Given the description of an element on the screen output the (x, y) to click on. 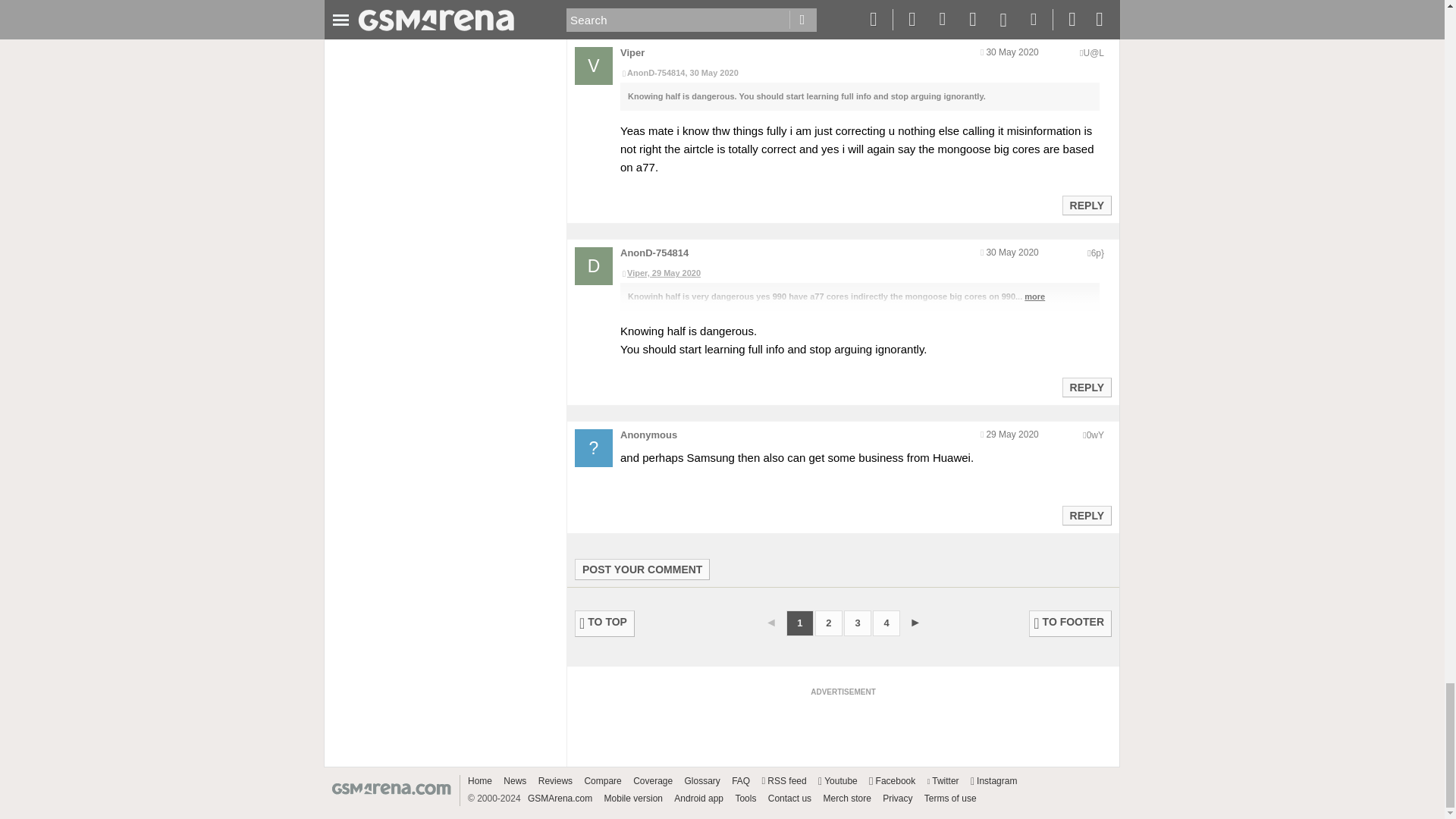
TO TOP (604, 623)
